Given the description of an element on the screen output the (x, y) to click on. 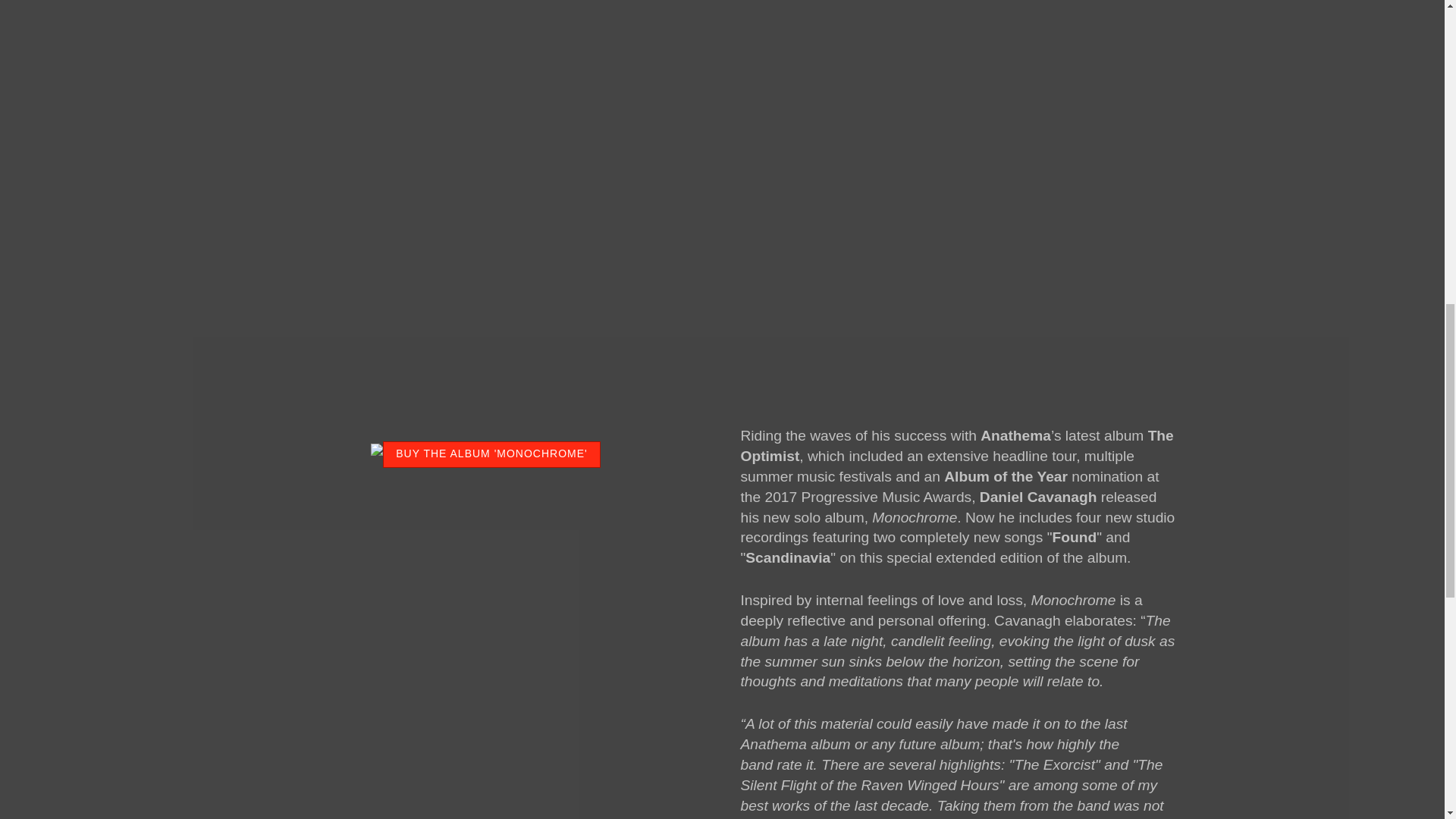
BUY THE ALBUM 'MONOCHROME' (490, 454)
